Given the description of an element on the screen output the (x, y) to click on. 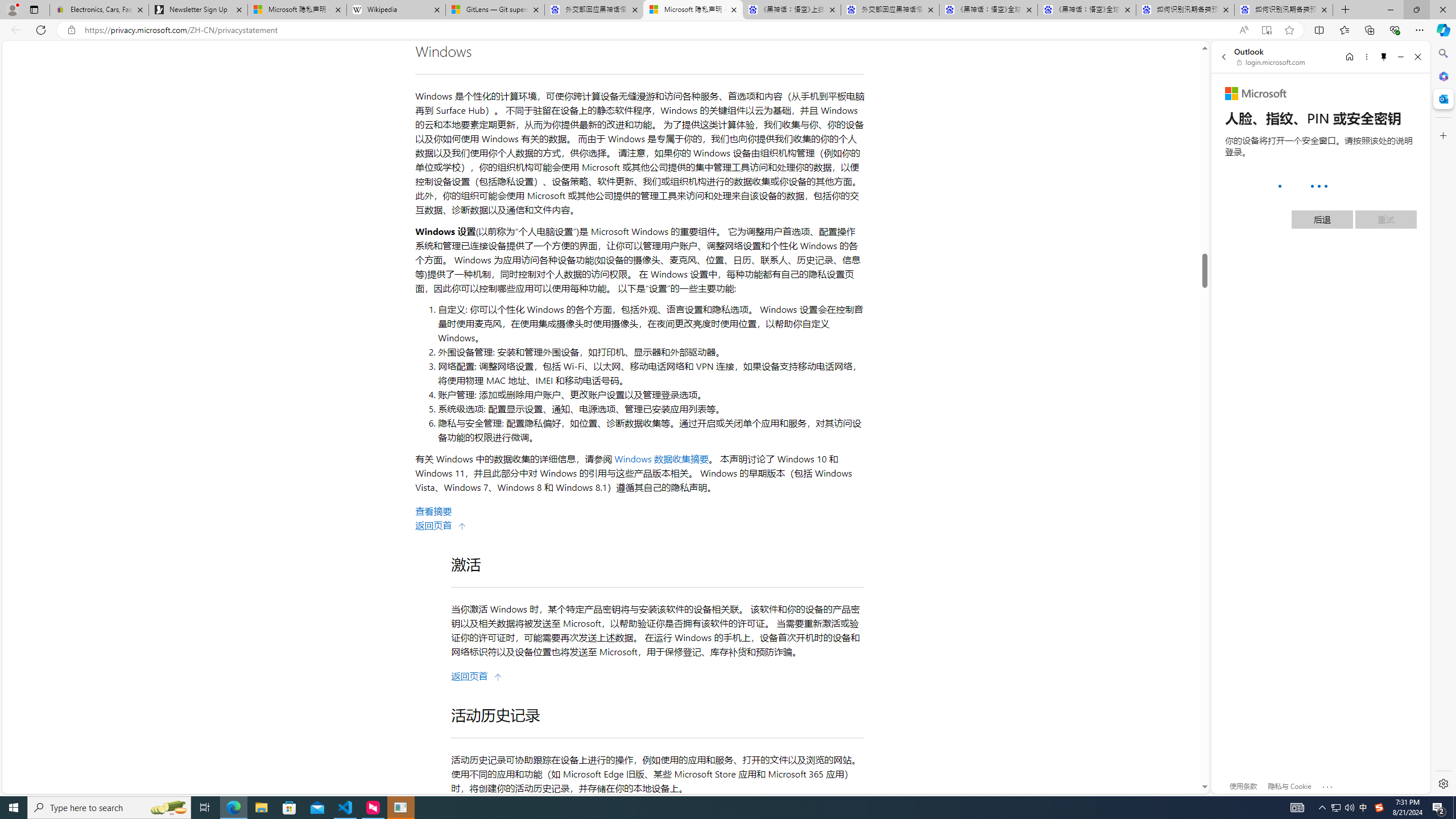
login.microsoft.com (1271, 61)
